Given the description of an element on the screen output the (x, y) to click on. 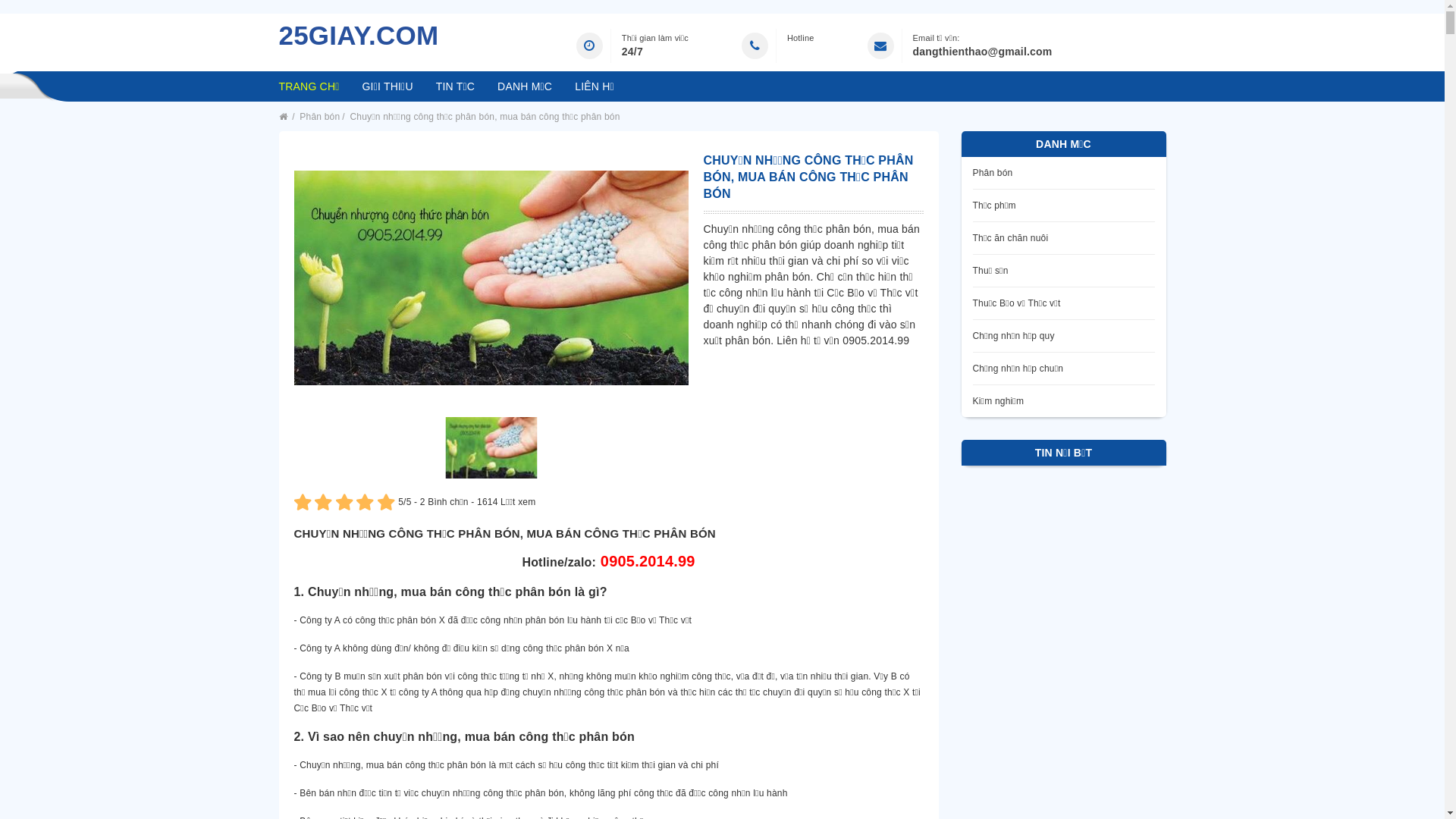
25GIAY.COM Element type: text (359, 38)
